Given the description of an element on the screen output the (x, y) to click on. 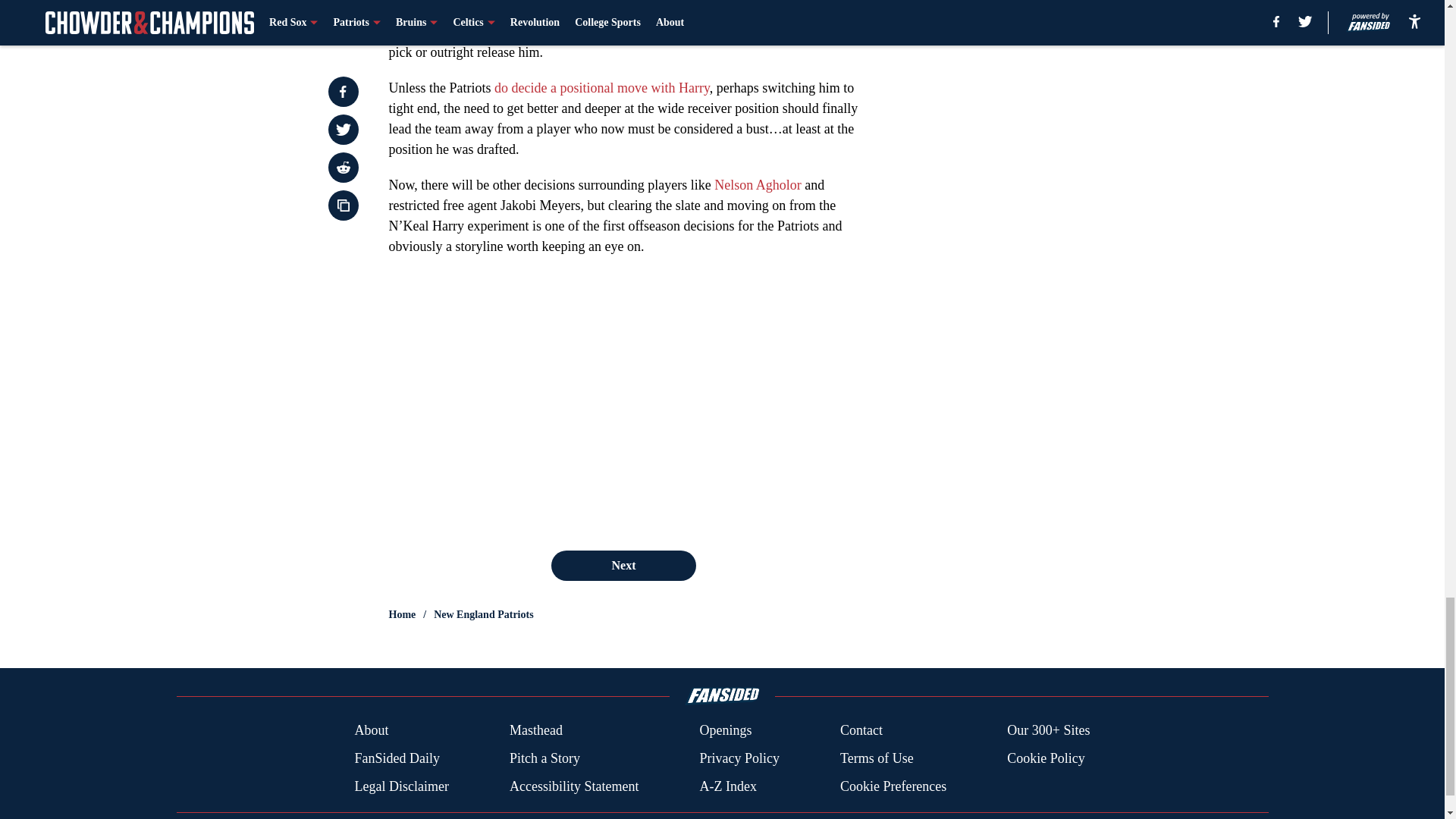
Nelson Agholor (758, 184)
Home (401, 614)
Next (622, 565)
do decide a positional move with Harry (602, 87)
